Given the description of an element on the screen output the (x, y) to click on. 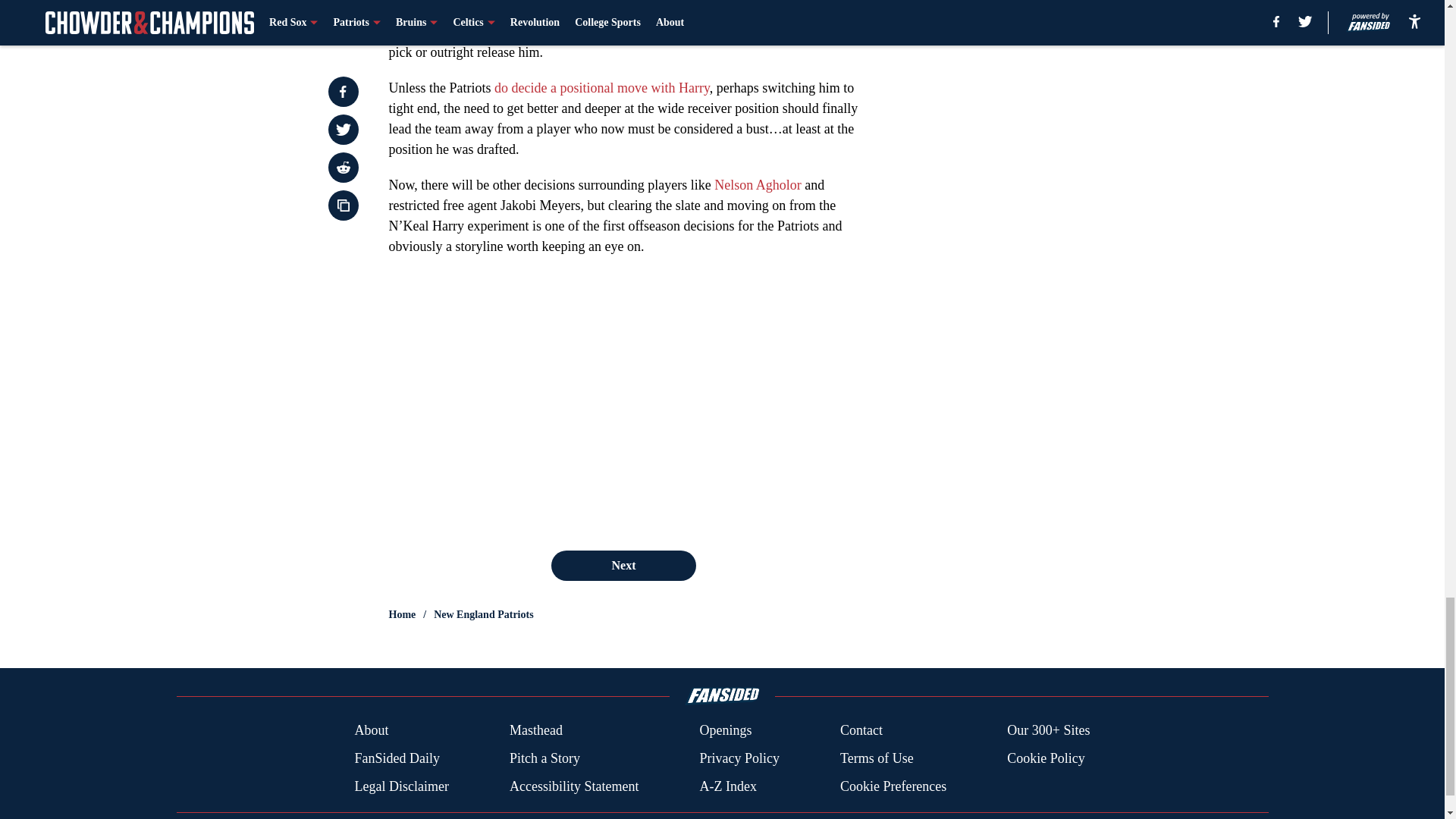
Nelson Agholor (758, 184)
Home (401, 614)
Next (622, 565)
do decide a positional move with Harry (602, 87)
